Given the description of an element on the screen output the (x, y) to click on. 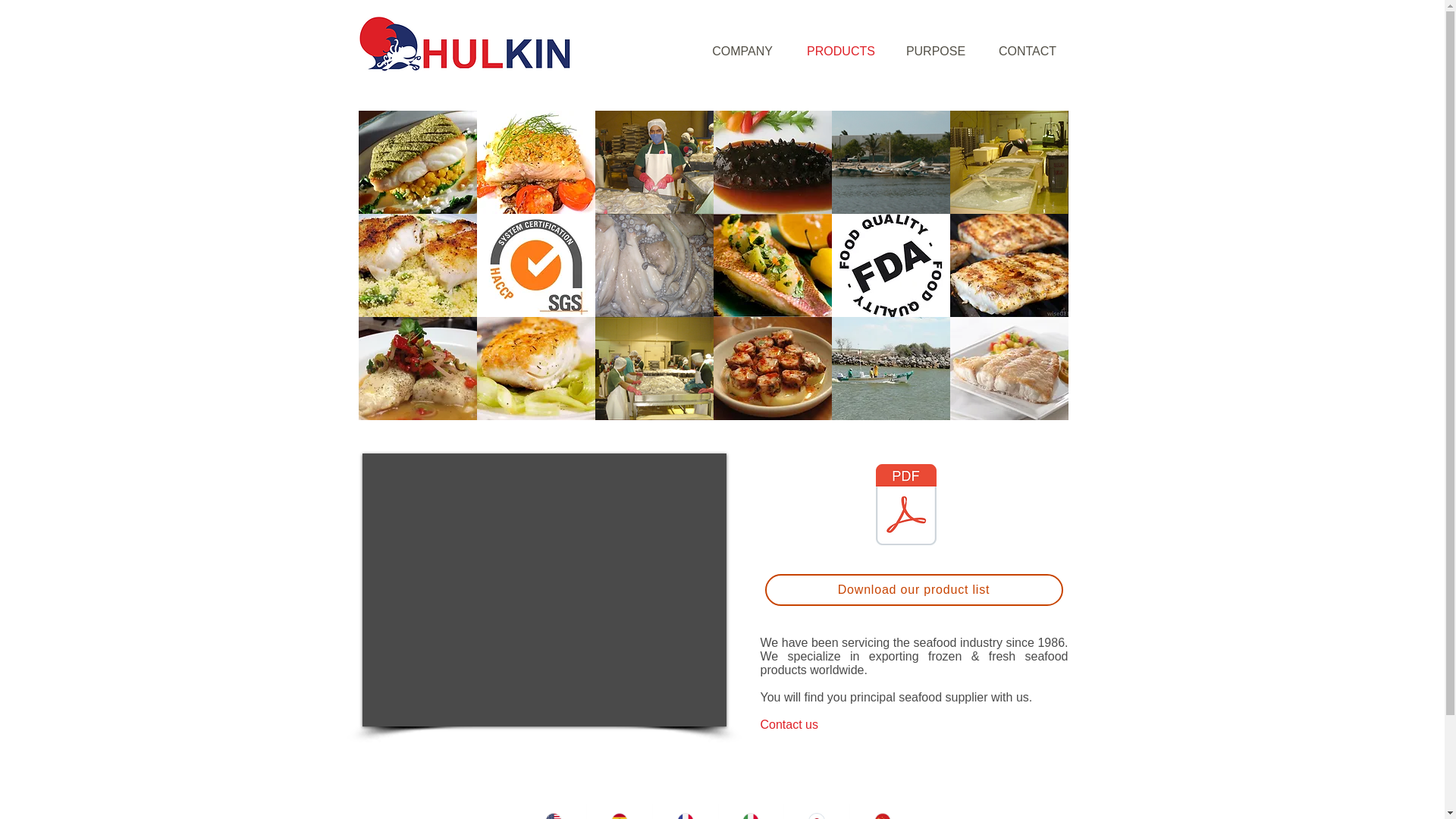
PURPOSE (934, 51)
PRODUCTS (839, 51)
External YouTube (544, 589)
Download our product list (913, 590)
CONTACT (1026, 51)
COMPANY (742, 51)
